Given the description of an element on the screen output the (x, y) to click on. 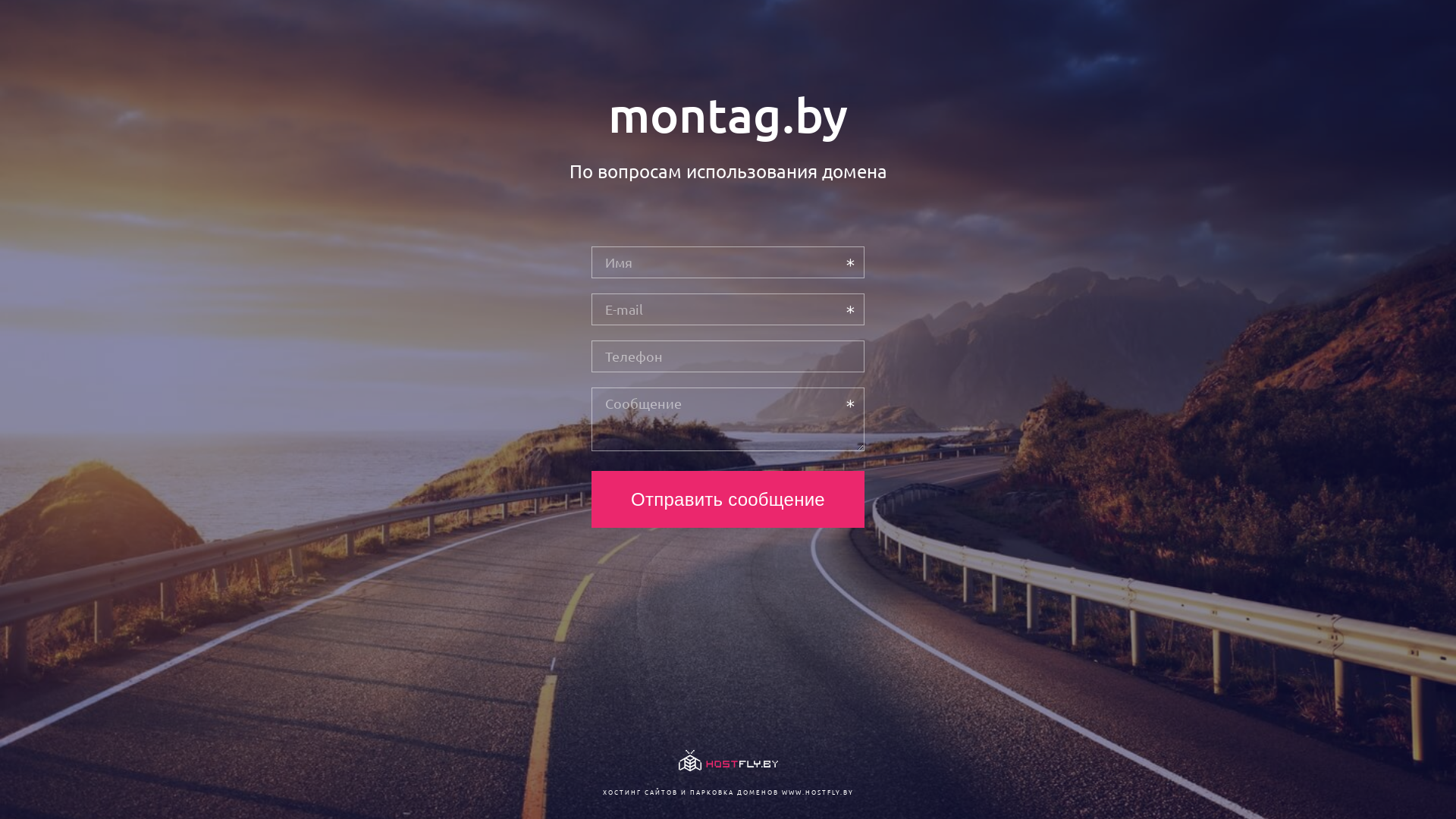
WWW.HOSTFLY.BY Element type: text (817, 791)
